Given the description of an element on the screen output the (x, y) to click on. 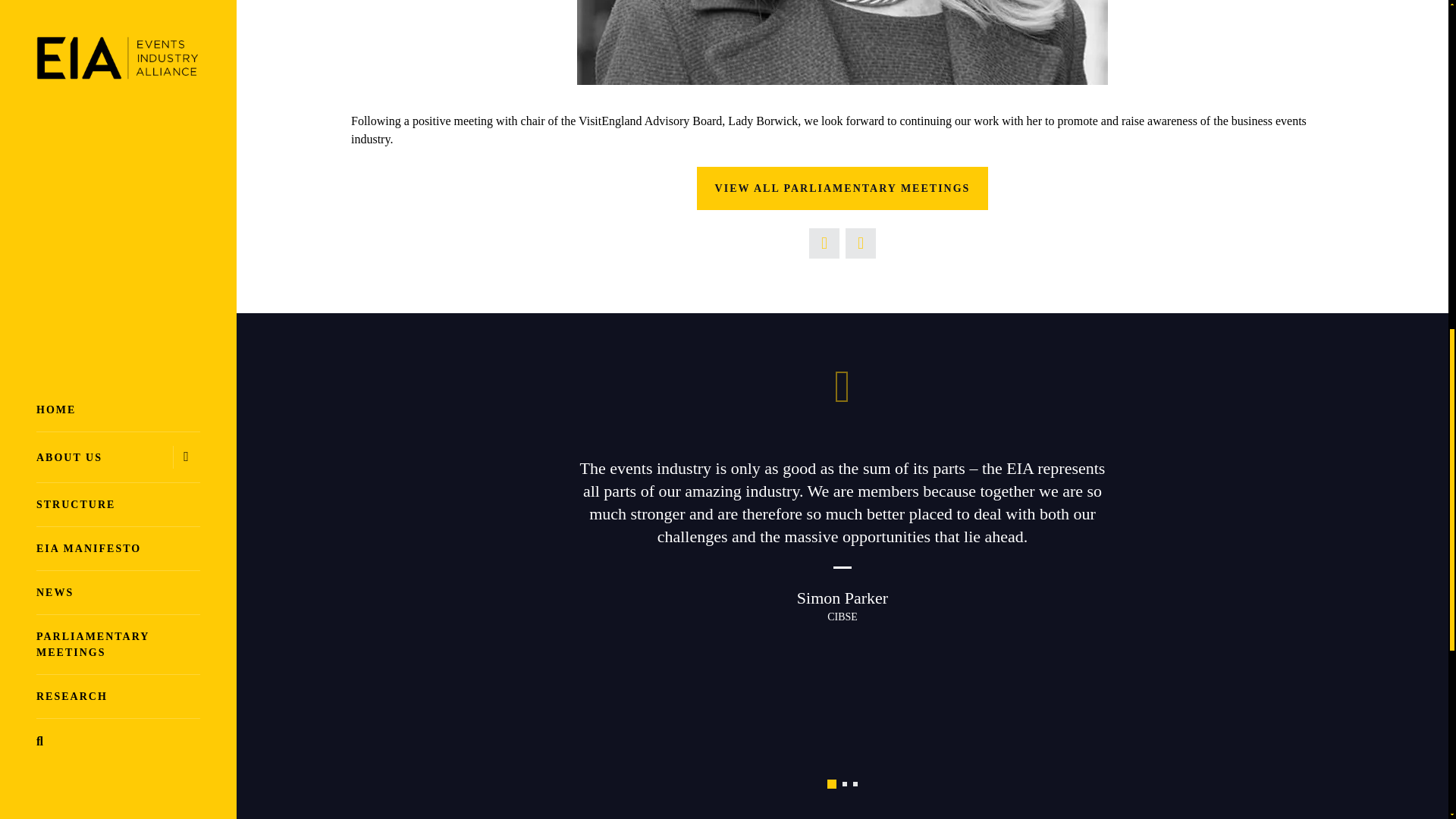
VIEW ALL PARLIAMENTARY MEETINGS (842, 188)
1 (831, 783)
Previous Page (824, 243)
